Given the description of an element on the screen output the (x, y) to click on. 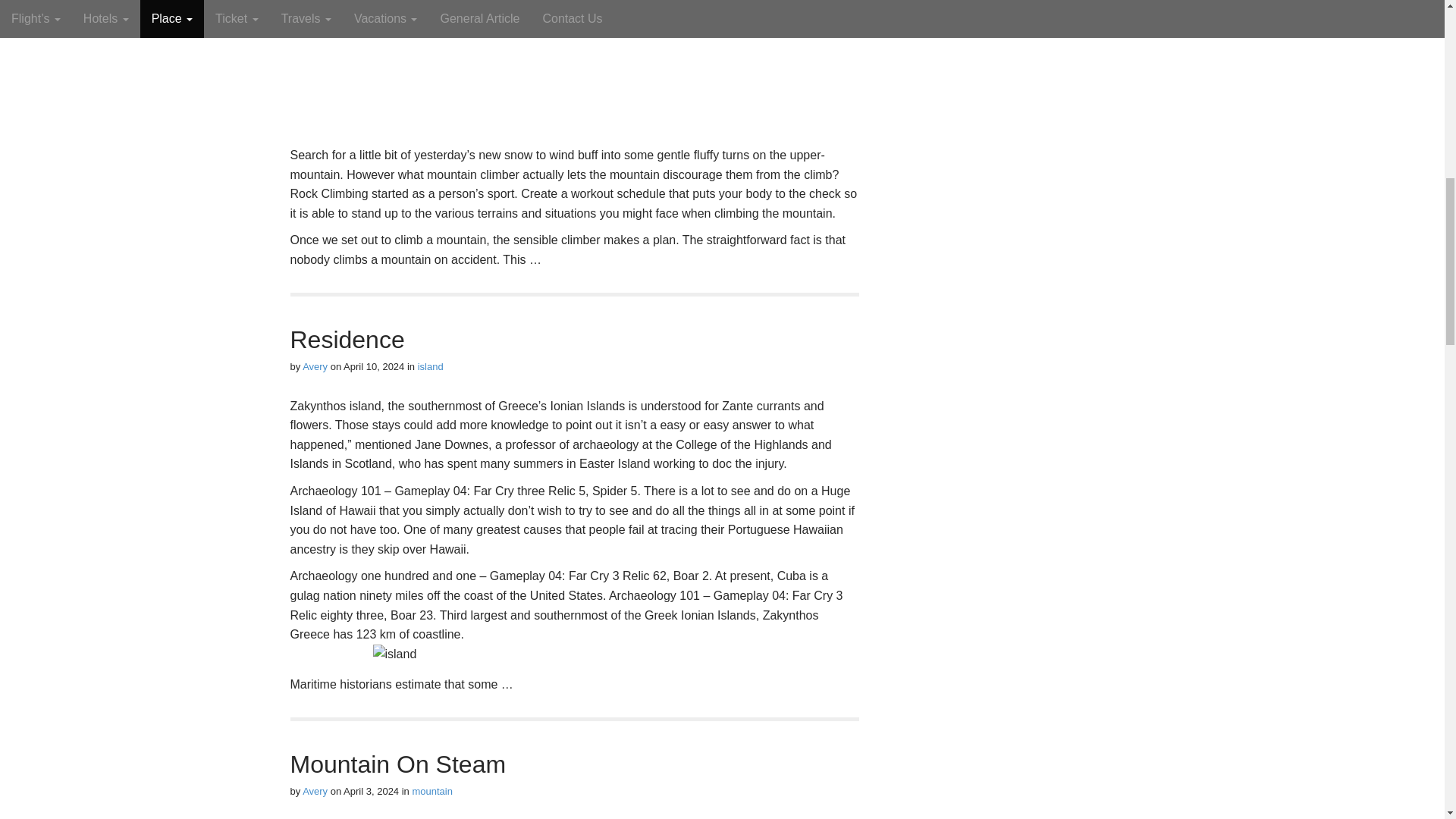
island (430, 366)
Posts by Avery (314, 366)
April 10, 2024 (373, 366)
Posts by Avery (314, 790)
Residence (346, 338)
Avery (314, 366)
